Given the description of an element on the screen output the (x, y) to click on. 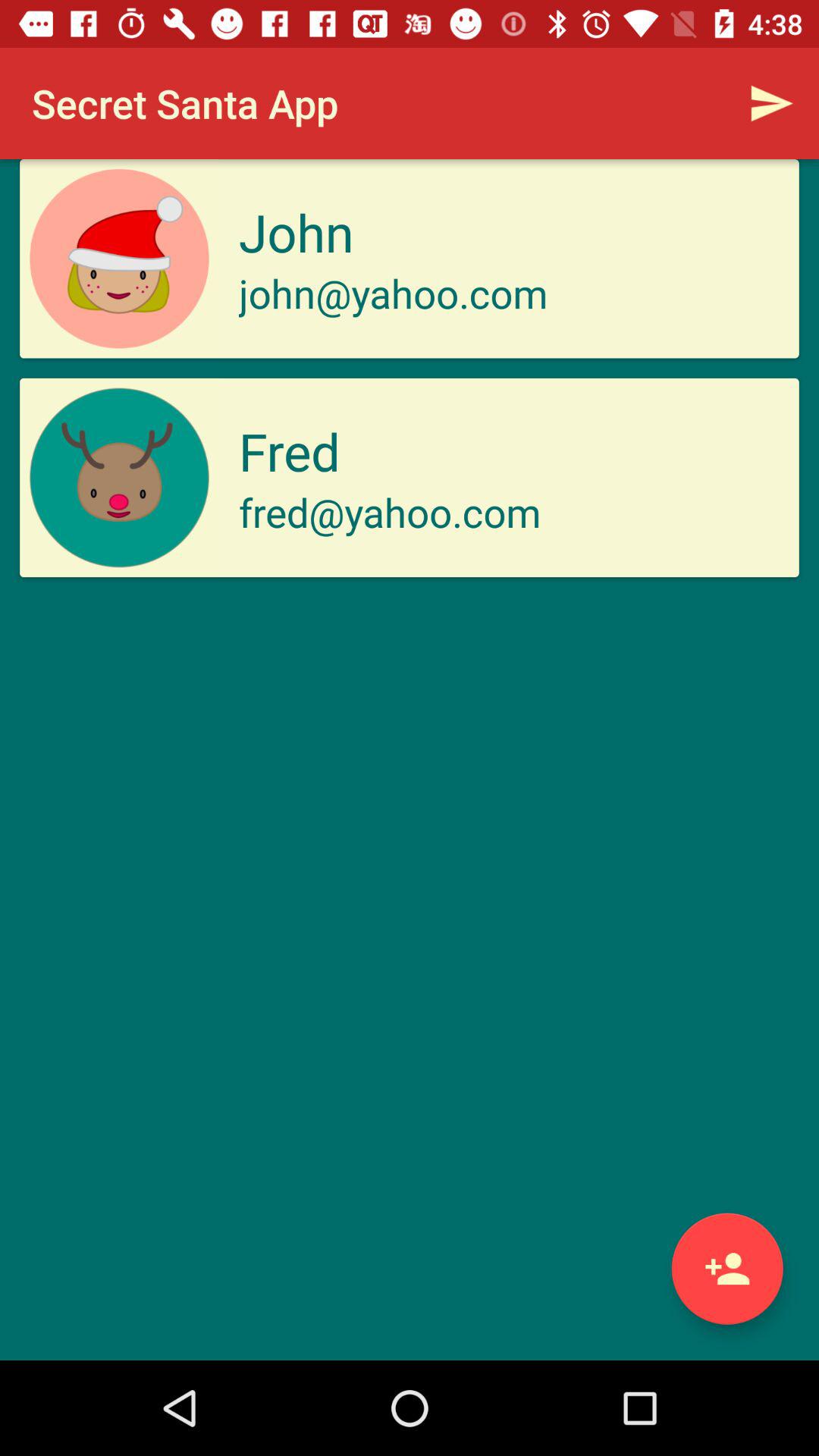
turn on the icon to the right of secret santa app icon (771, 103)
